Given the description of an element on the screen output the (x, y) to click on. 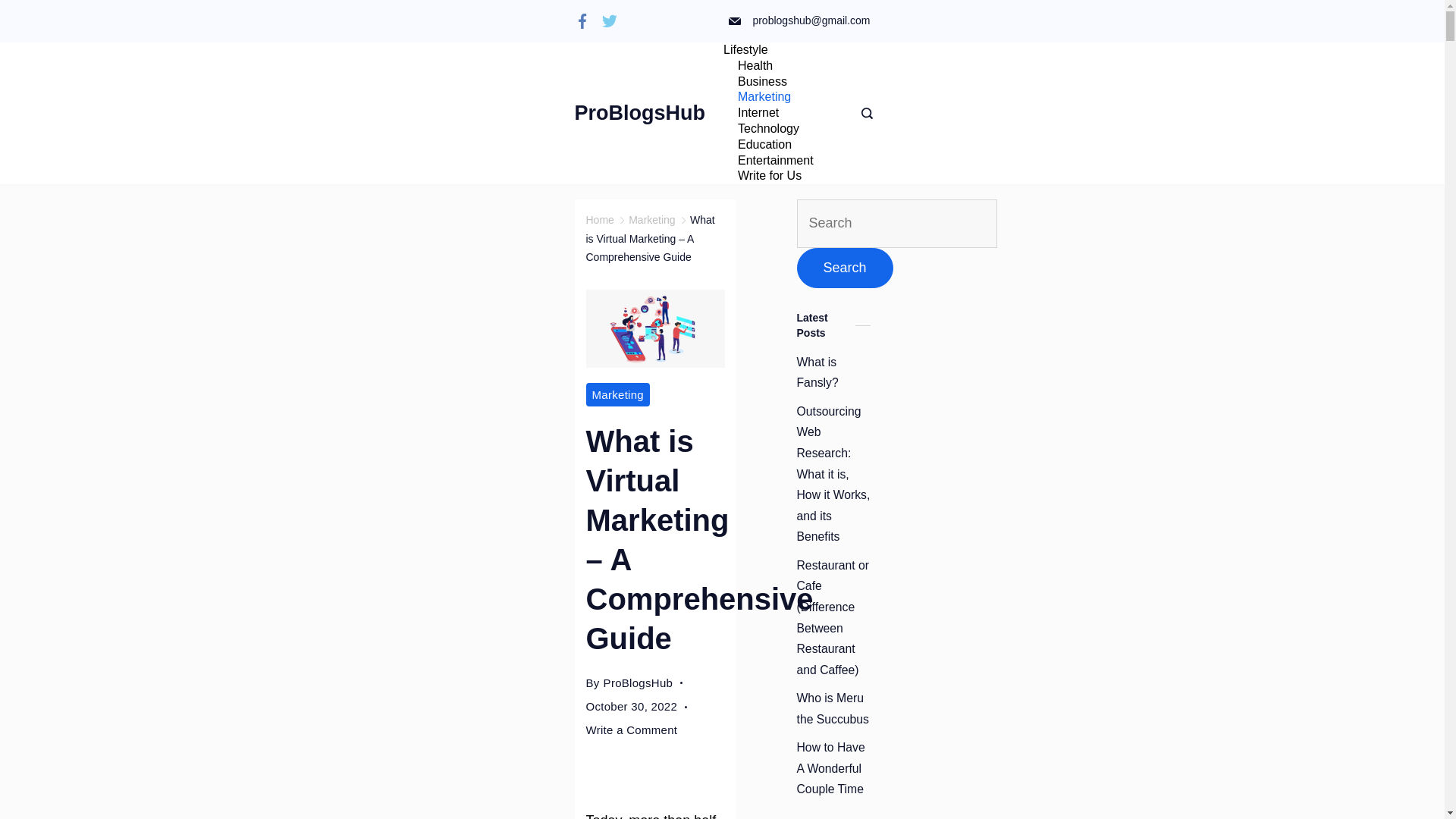
Search (844, 268)
Internet (758, 113)
Write for Us (762, 176)
Education (764, 145)
ProBlogsHub (640, 112)
Health (755, 66)
Entertainment (775, 160)
Marketing (617, 394)
Technology (768, 129)
Marketing (764, 97)
Business (762, 82)
Home (598, 219)
Search Input (895, 223)
Marketing (651, 219)
ProBlogsHub (638, 682)
